Given the description of an element on the screen output the (x, y) to click on. 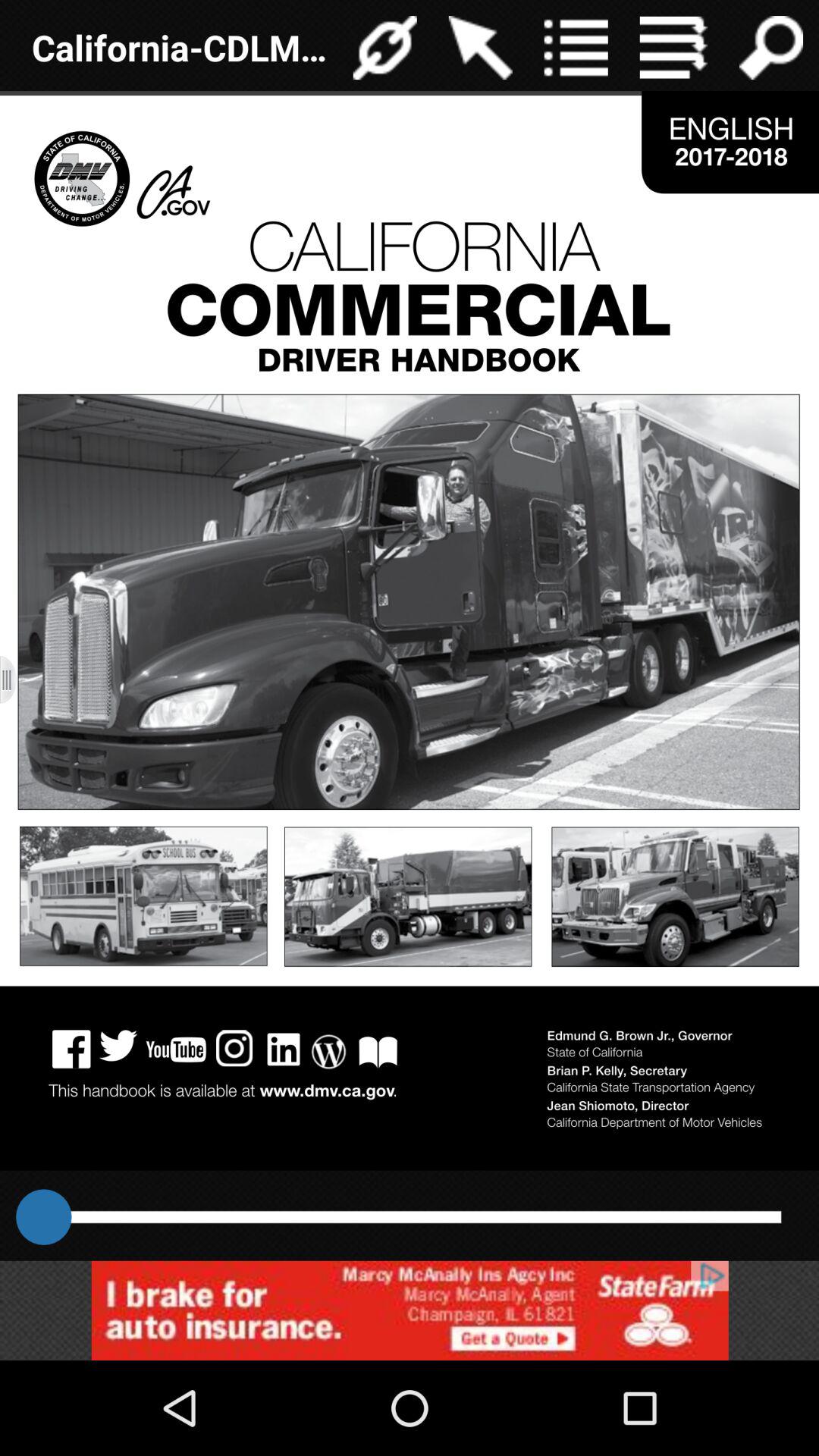
advertisement area (409, 1310)
